Given the description of an element on the screen output the (x, y) to click on. 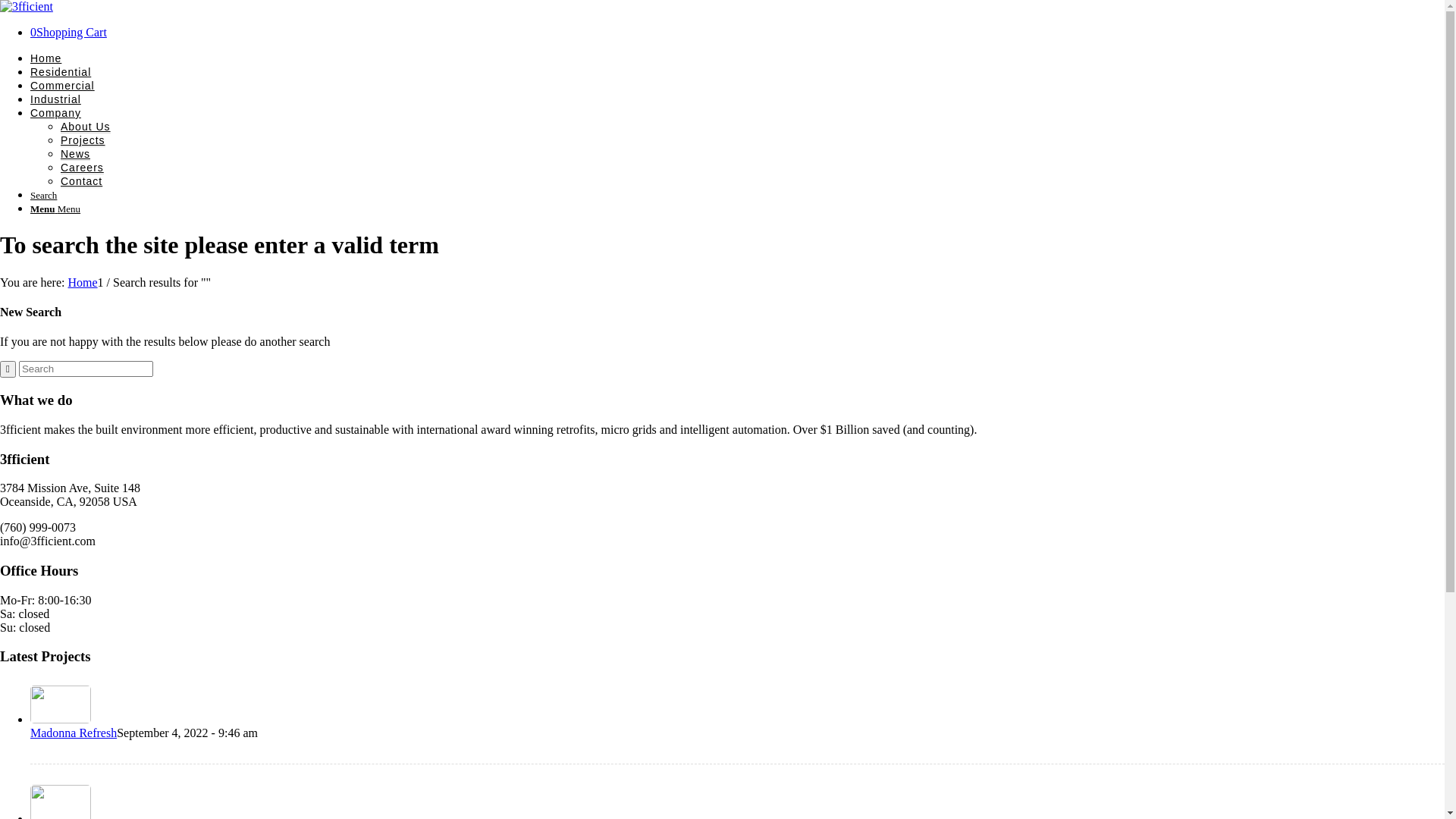
Contact Element type: text (81, 181)
Home Element type: text (82, 282)
Menu Menu Element type: text (55, 208)
Careers Element type: text (81, 167)
Madonna Refresh Element type: text (73, 732)
Residential Element type: text (60, 72)
Commercial Element type: text (62, 85)
Search Element type: text (43, 194)
Projects Element type: text (82, 140)
Home Element type: text (45, 58)
Industrial Element type: text (55, 99)
Read: Madonna Refresh Element type: hover (60, 718)
0Shopping Cart Element type: text (68, 31)
About Us Element type: text (85, 126)
News Element type: text (75, 153)
Company Element type: text (55, 113)
3fficientWeblogo2 Element type: hover (26, 6)
